Given the description of an element on the screen output the (x, y) to click on. 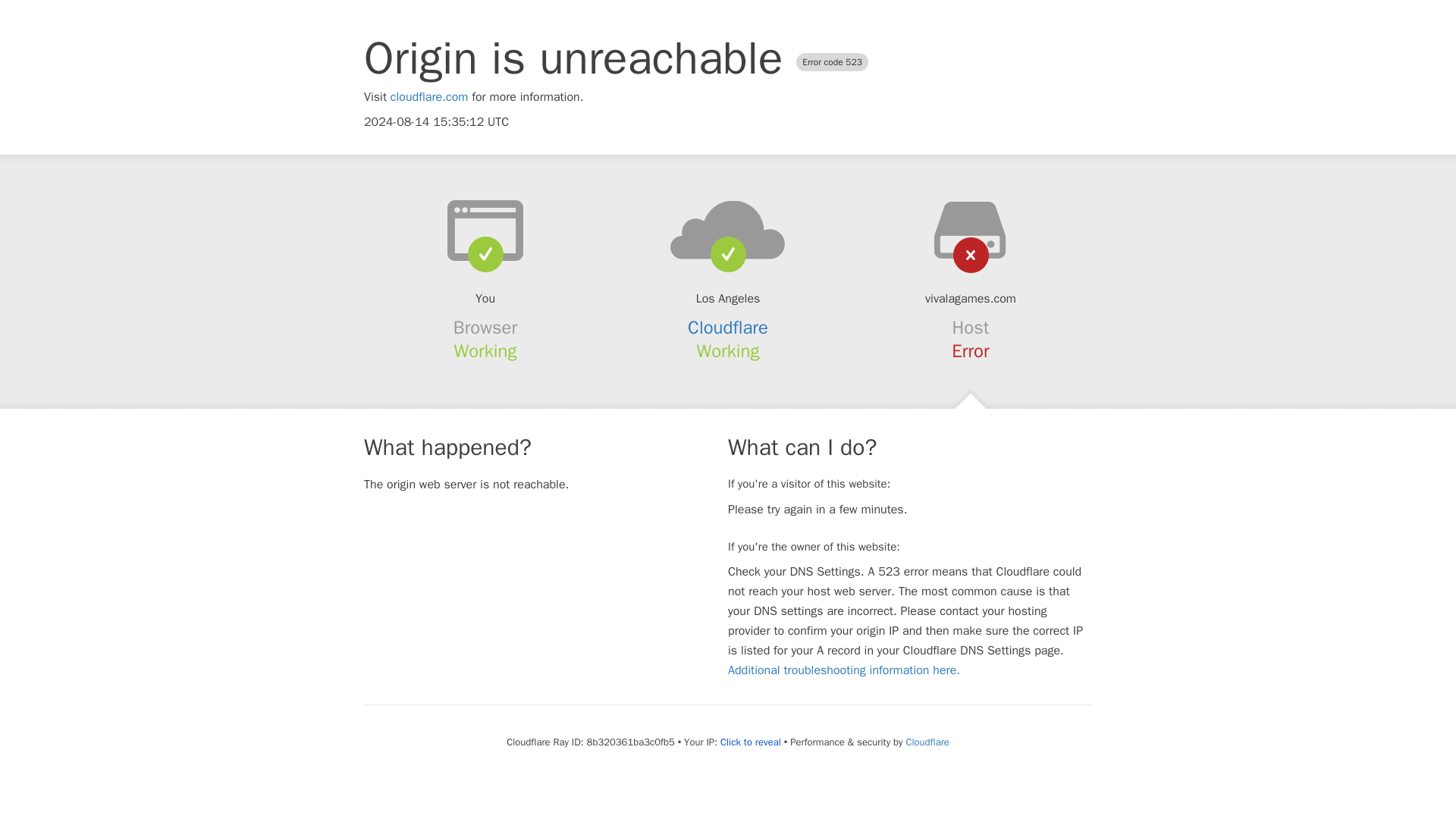
Click to reveal (750, 742)
Additional troubleshooting information here. (843, 670)
Cloudflare (927, 741)
Cloudflare (727, 327)
cloudflare.com (429, 96)
